Given the description of an element on the screen output the (x, y) to click on. 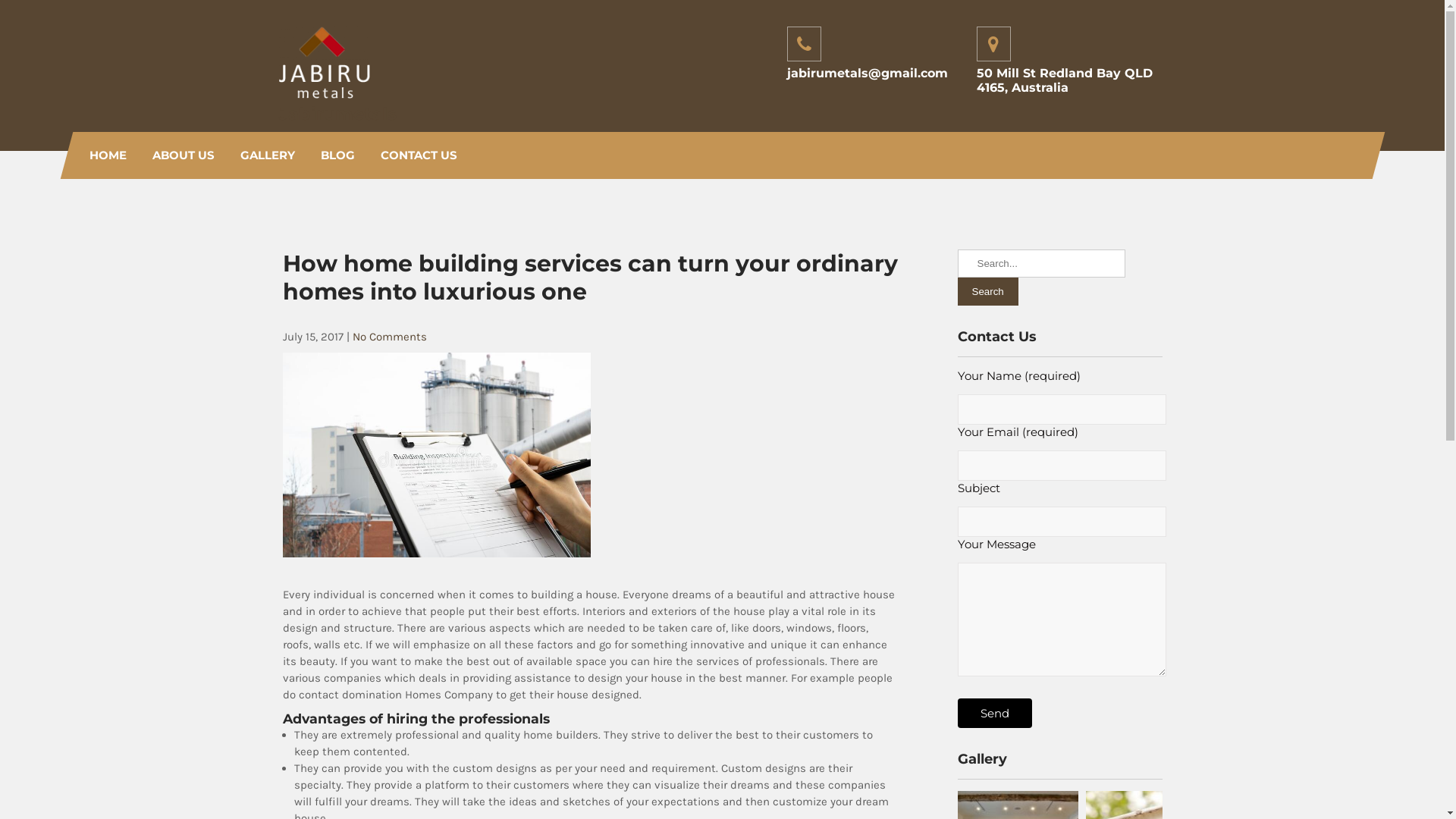
CONTACT US Element type: text (418, 154)
Jabirumetals Element type: text (337, 113)
GALLERY Element type: text (267, 154)
ABOUT US Element type: text (183, 154)
Send Element type: text (994, 713)
HOME Element type: text (108, 154)
Search Element type: text (987, 291)
BLOG Element type: text (337, 154)
No Comments Element type: text (388, 336)
